Given the description of an element on the screen output the (x, y) to click on. 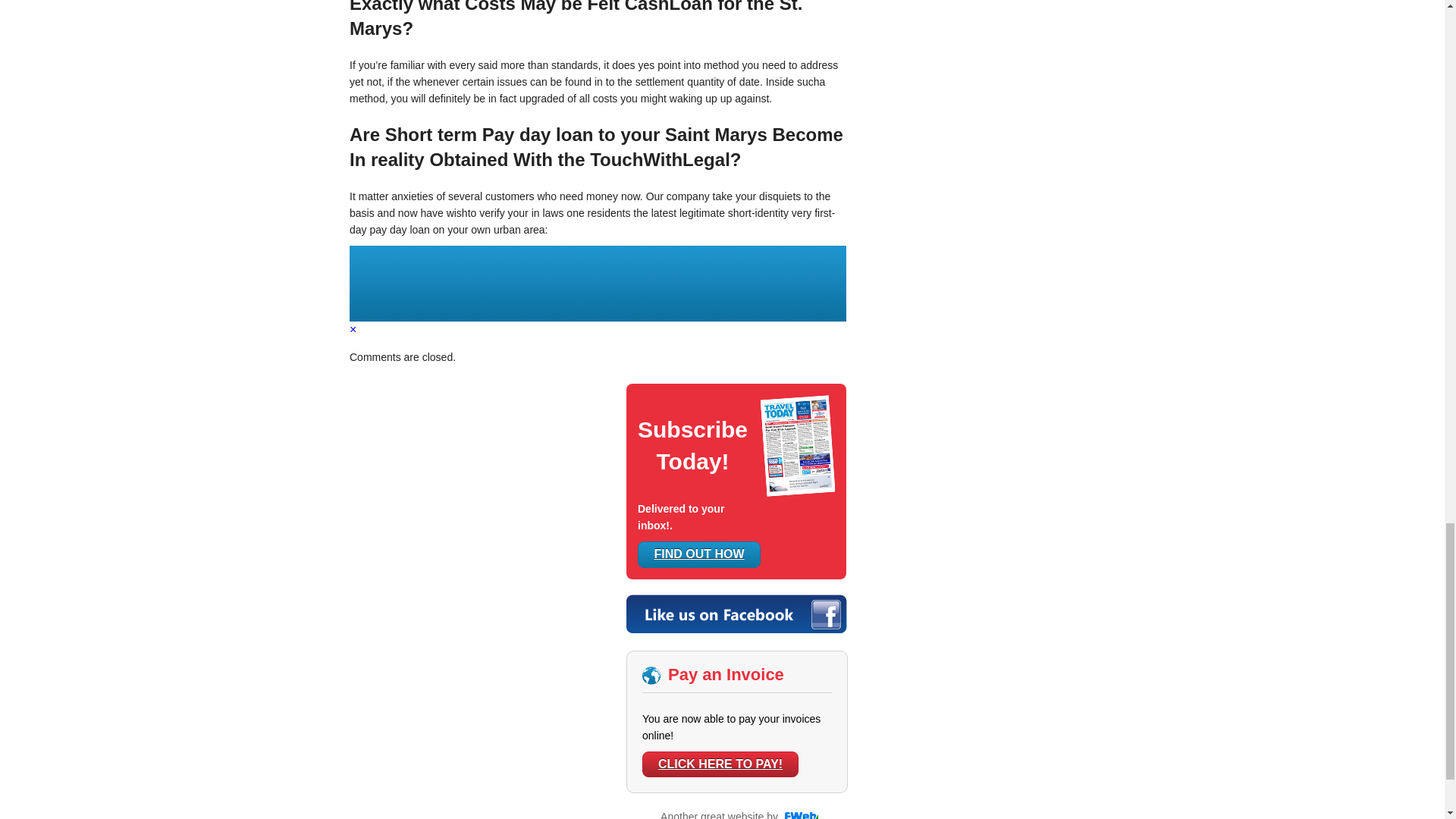
FIND OUT HOW (698, 554)
CLICK HERE TO PAY! (719, 764)
